Given the description of an element on the screen output the (x, y) to click on. 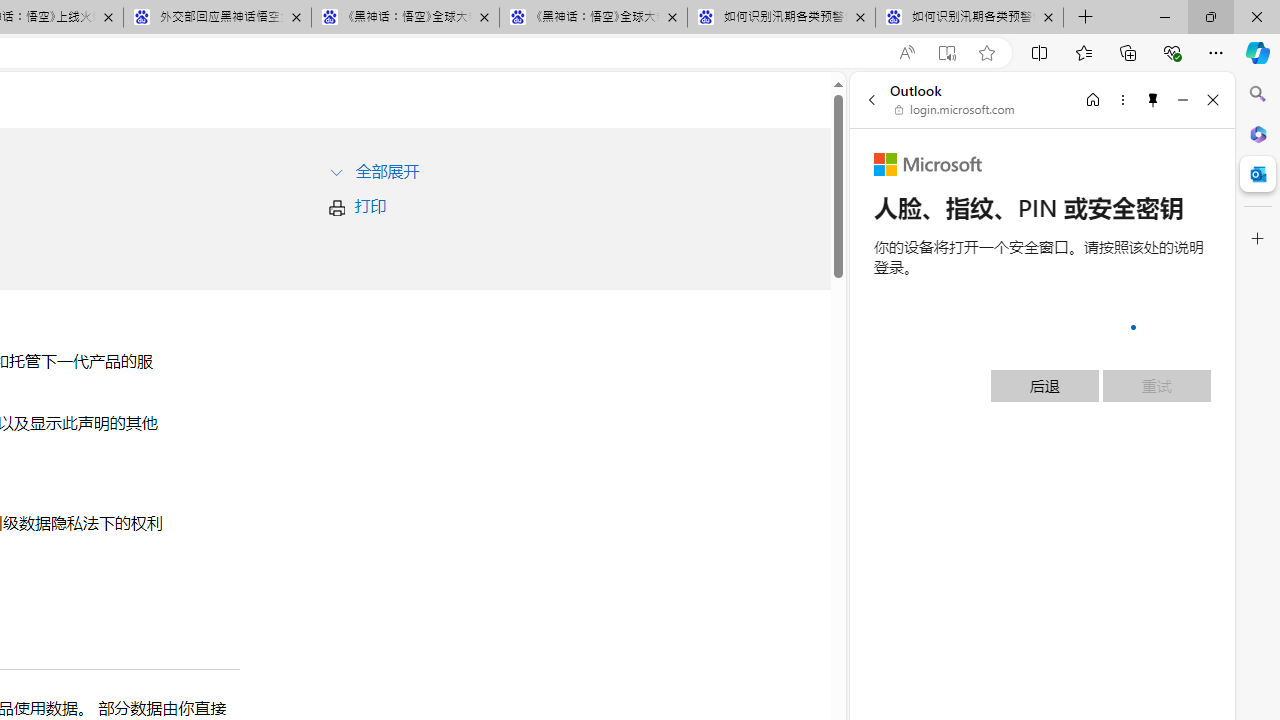
login.microsoft.com (955, 110)
